Given the description of an element on the screen output the (x, y) to click on. 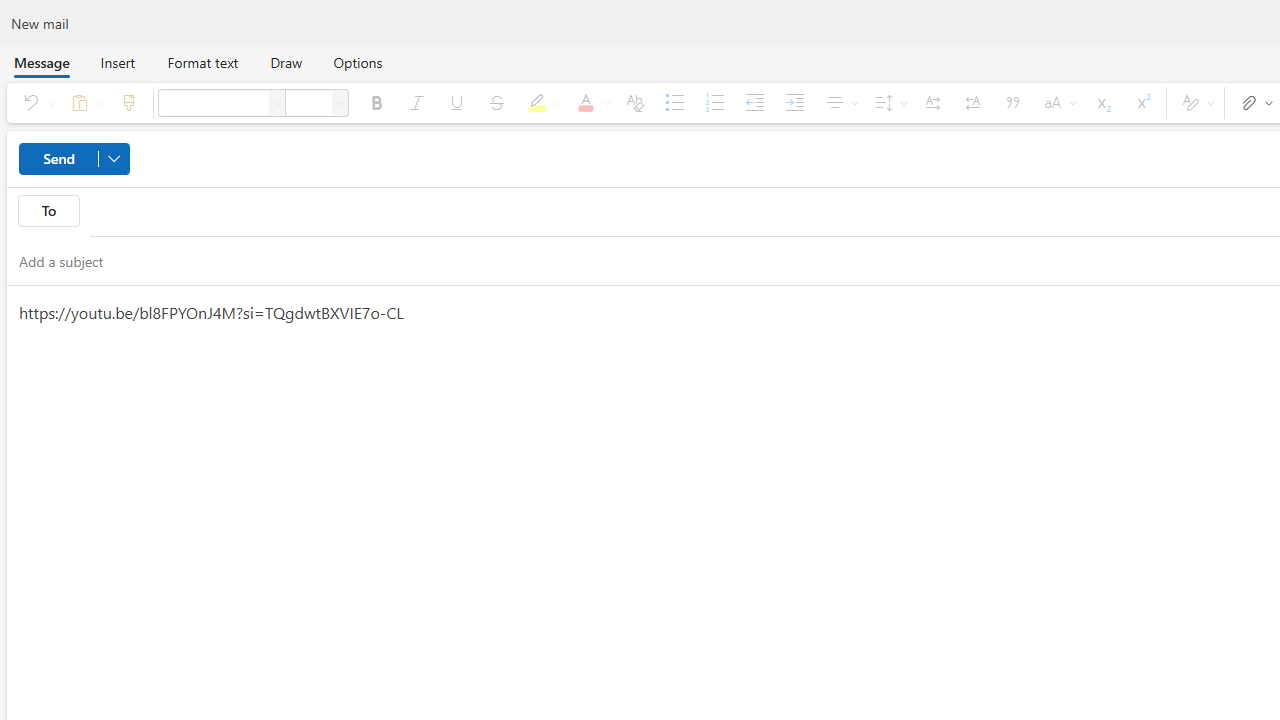
Spacing (888, 102)
Increase indent (794, 102)
Decrease indent (754, 102)
Text highlight color (541, 102)
Font size (340, 102)
Subscript (1101, 102)
Paste (84, 102)
